Given the description of an element on the screen output the (x, y) to click on. 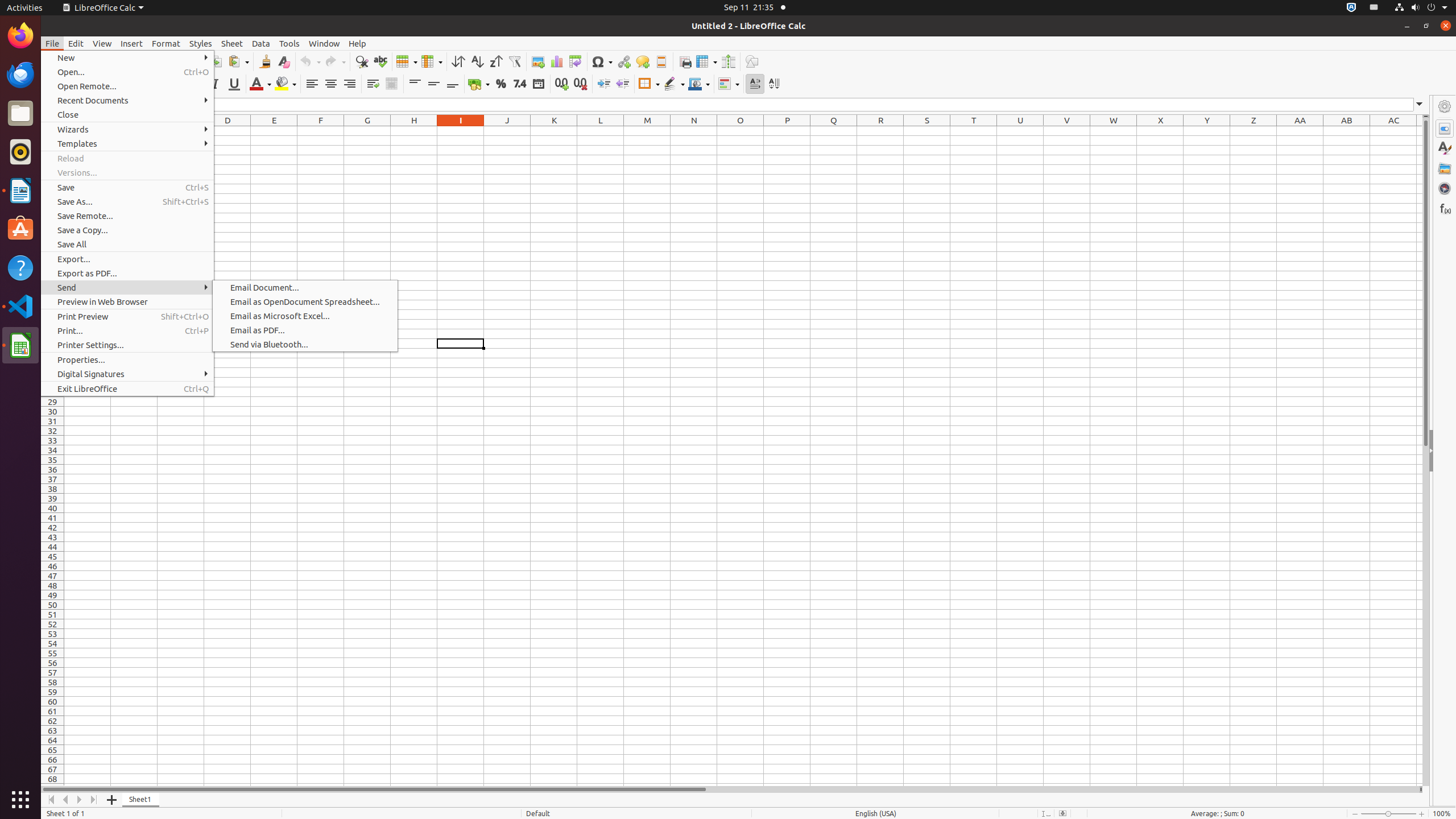
Sort Ascending Element type: push-button (476, 61)
Printer Settings... Element type: menu-item (126, 344)
Sheet1 Element type: page-tab (140, 799)
Recent Documents Element type: menu (126, 100)
